Given the description of an element on the screen output the (x, y) to click on. 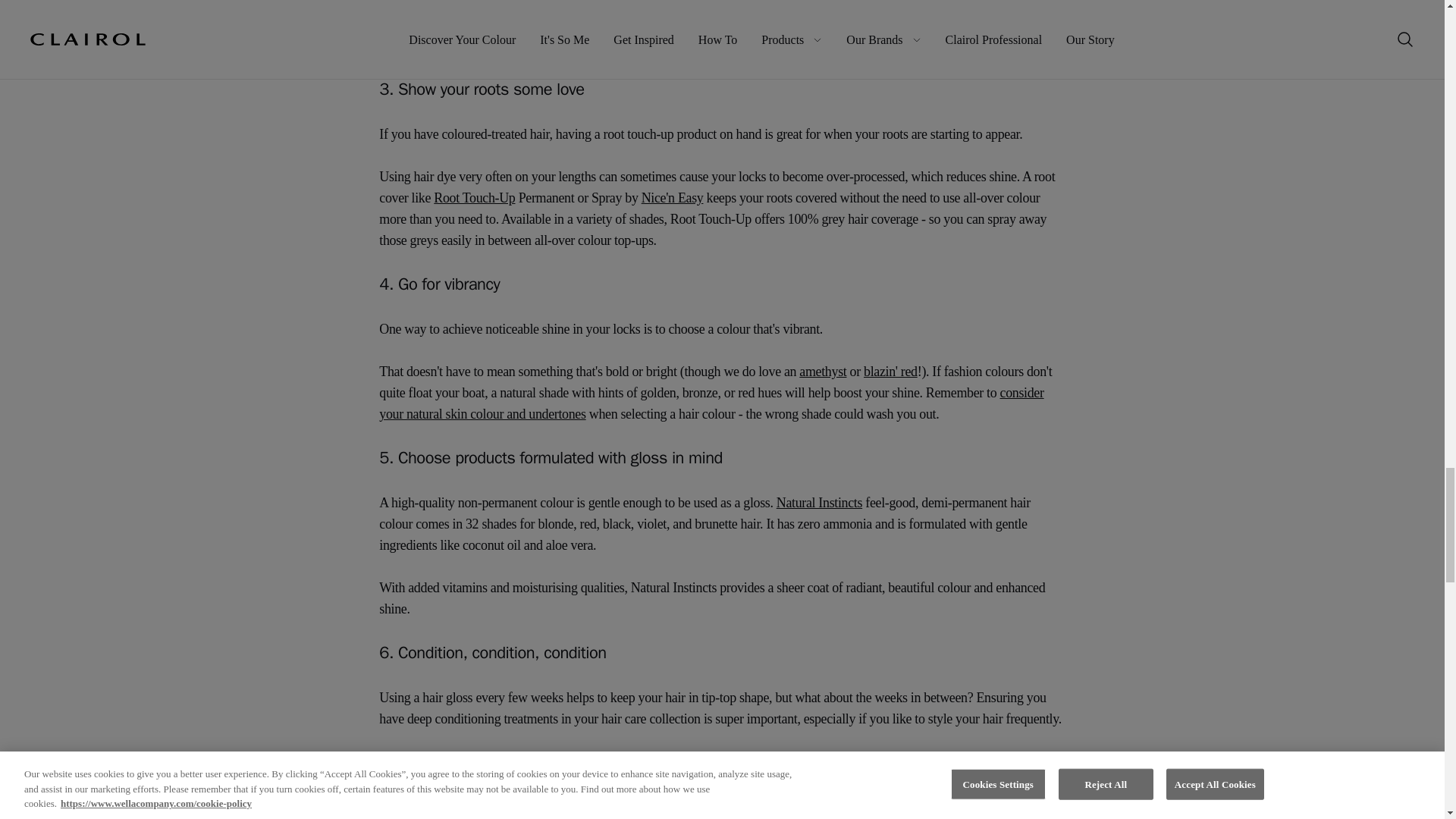
Root Touch-Up (474, 197)
blazin' red (890, 371)
Nice'n Easy (672, 197)
Natural Instincts (818, 502)
consider your natural skin colour and undertones (710, 402)
amethyst (822, 371)
